Given the description of an element on the screen output the (x, y) to click on. 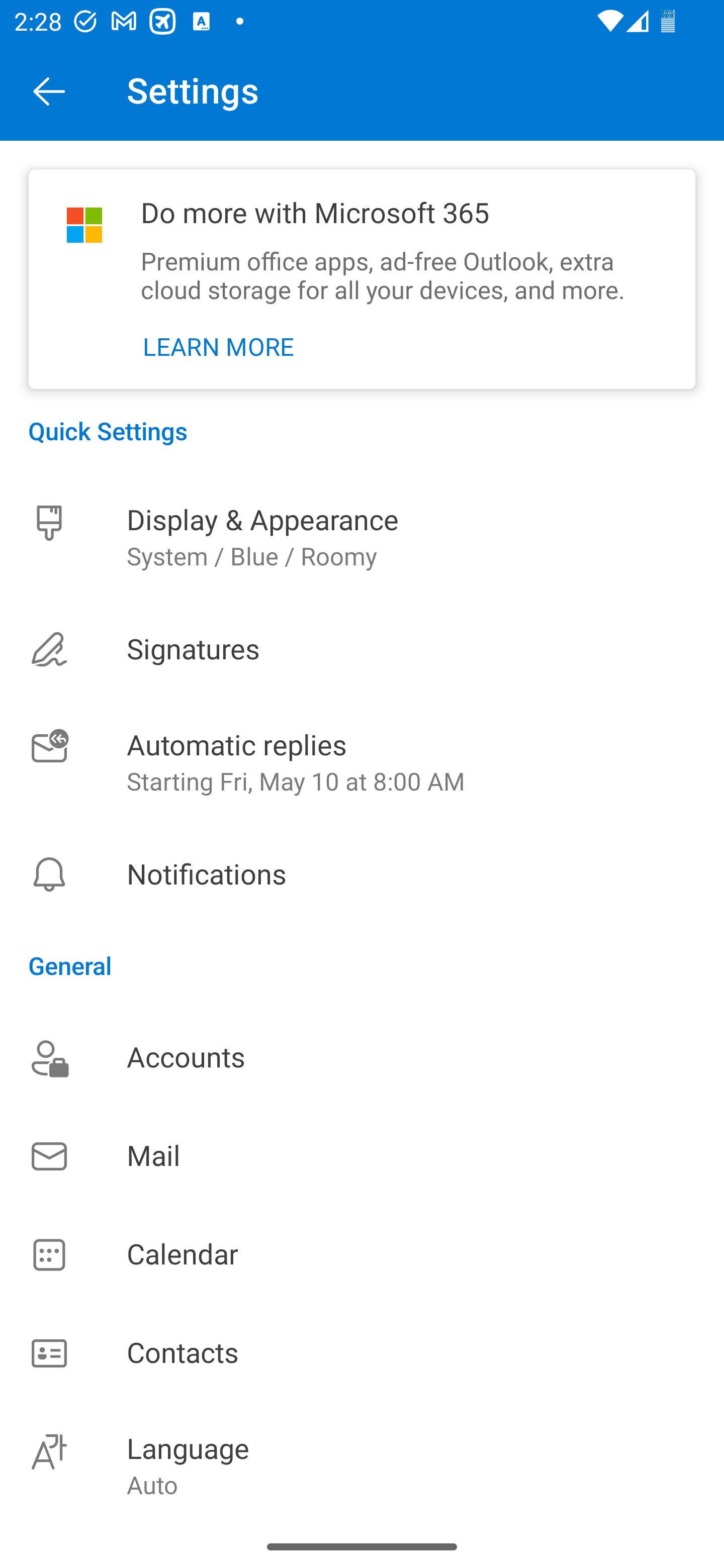
Back (49, 90)
LEARN MORE (218, 346)
Display & Appearance System / Blue / Roomy (362, 536)
Signatures (362, 649)
Automatic replies Starting Fri, May 10 at 8:00 AM (362, 762)
Notifications (362, 874)
Accounts (362, 1057)
Mail (362, 1156)
Calendar (362, 1254)
Contacts (362, 1353)
Language Auto (362, 1464)
